Given the description of an element on the screen output the (x, y) to click on. 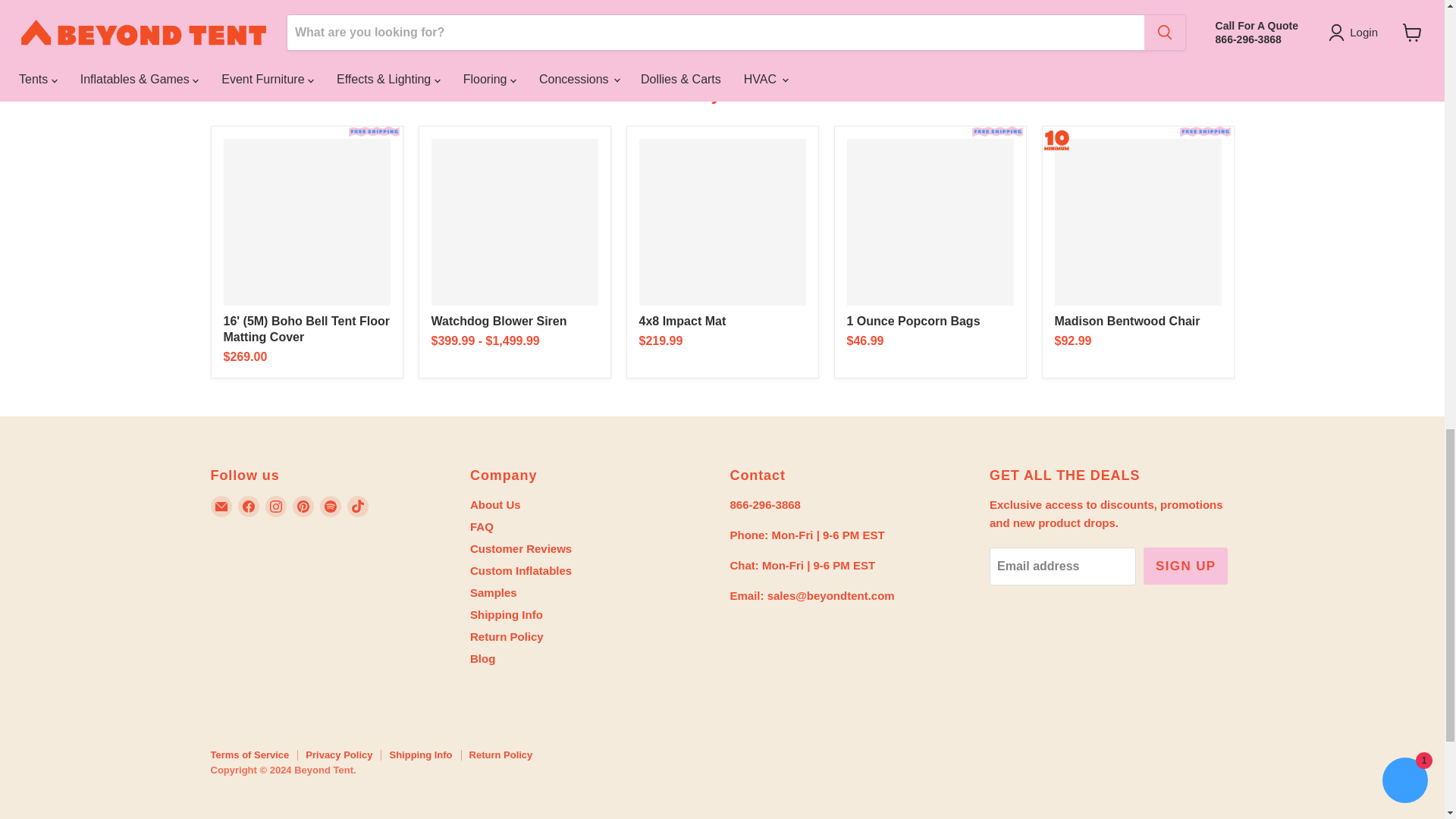
Facebook (248, 505)
Email (221, 505)
